Given the description of an element on the screen output the (x, y) to click on. 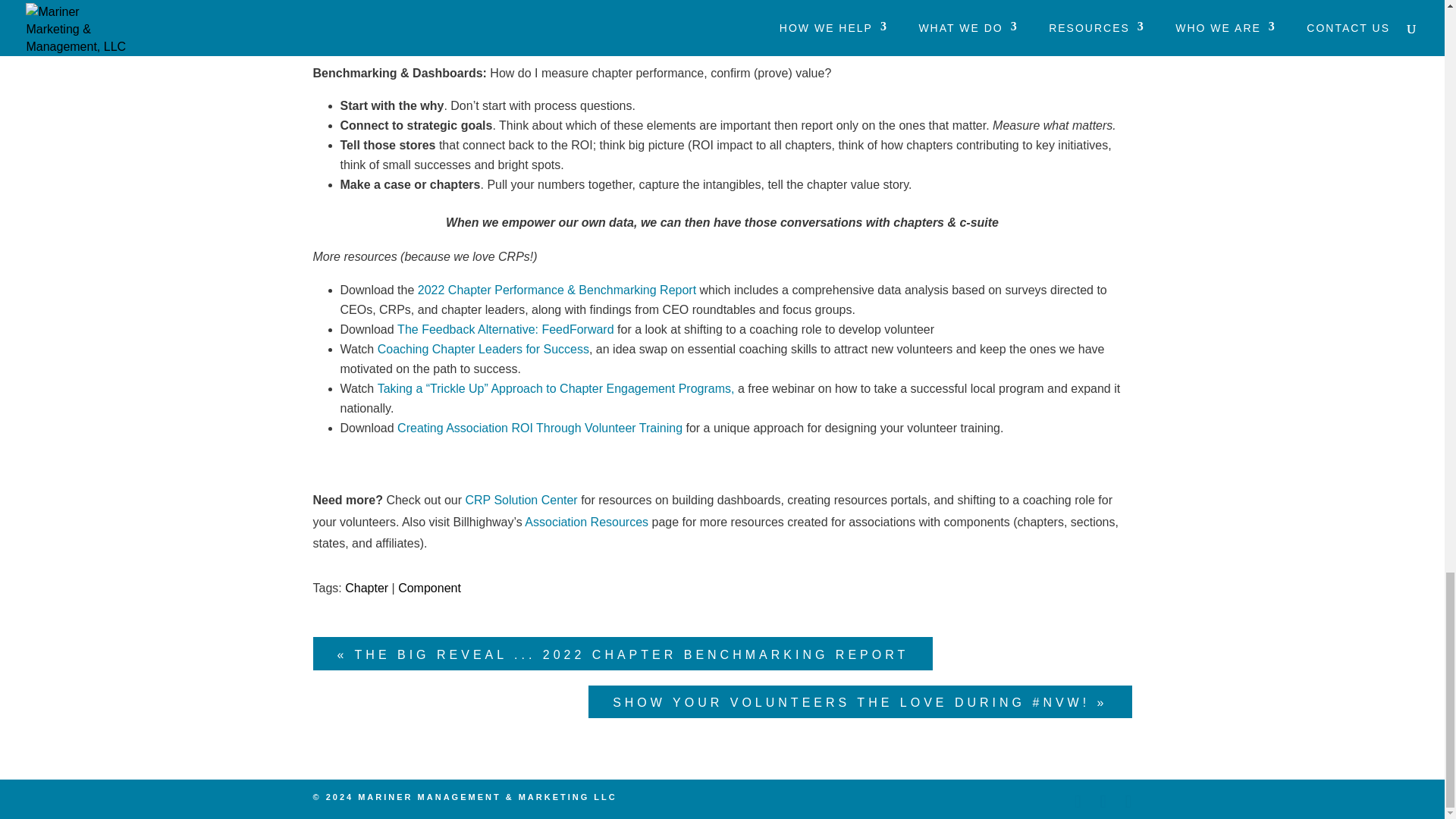
Component (429, 587)
Association Resources (585, 521)
FeedForward (576, 328)
Coaching Chapter Leaders for Success (483, 349)
The Feedback Alternative: (469, 328)
Chapter (366, 587)
Creating Association ROI Through Volunteer Training (539, 427)
CRP Solution Center (520, 499)
